Given the description of an element on the screen output the (x, y) to click on. 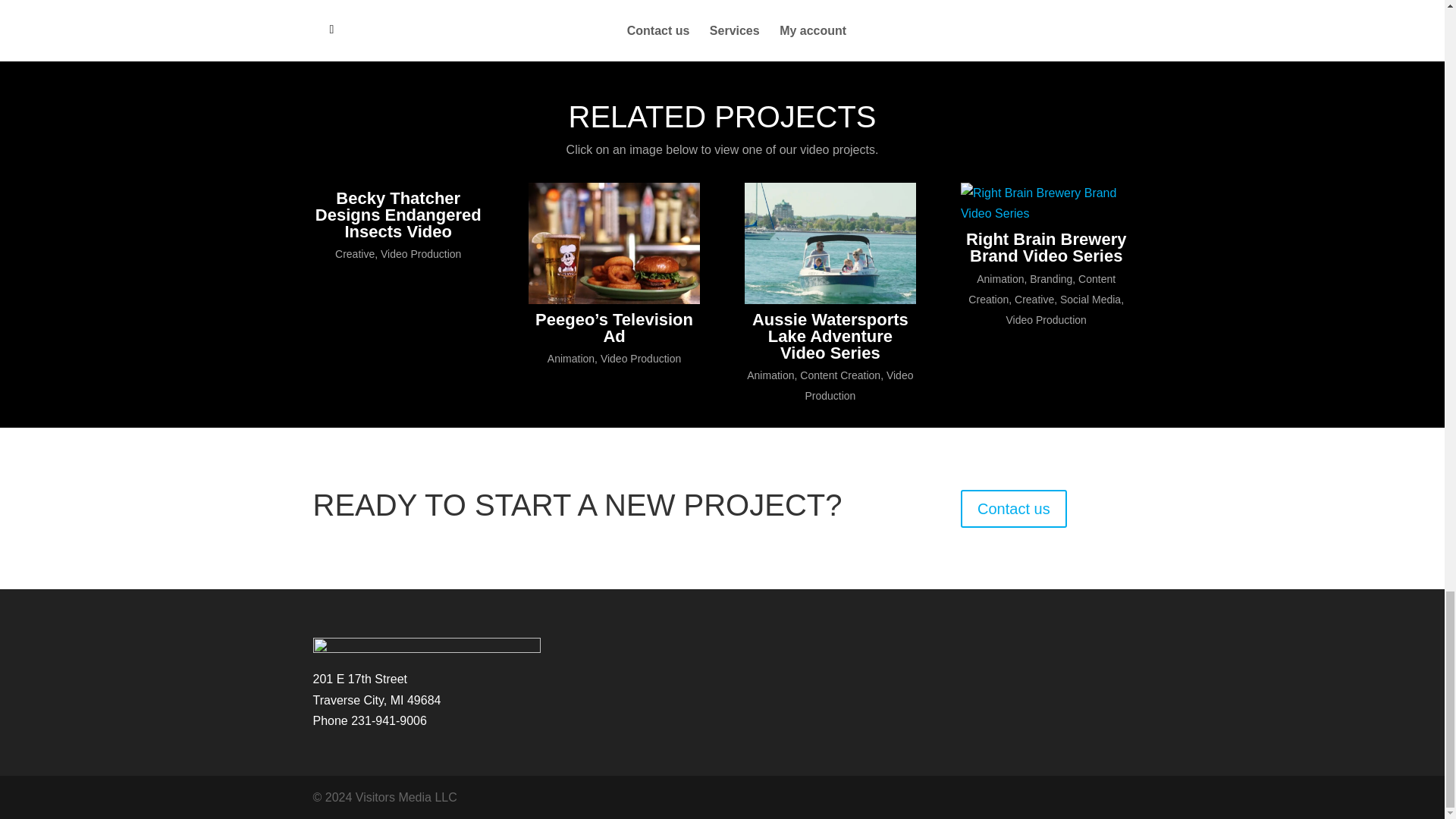
Aussie Watersports Lake Adventure Video Series (829, 242)
Social Media (1090, 299)
Contact us (1013, 508)
Video Production (1046, 319)
Creative (1034, 299)
Becky Thatcher Designs Endangered Insects Video (398, 214)
Content Creation (1041, 288)
Video Production (420, 254)
Aussie Watersports Lake Adventure Video Series (830, 336)
Content Creation (839, 375)
